Given the description of an element on the screen output the (x, y) to click on. 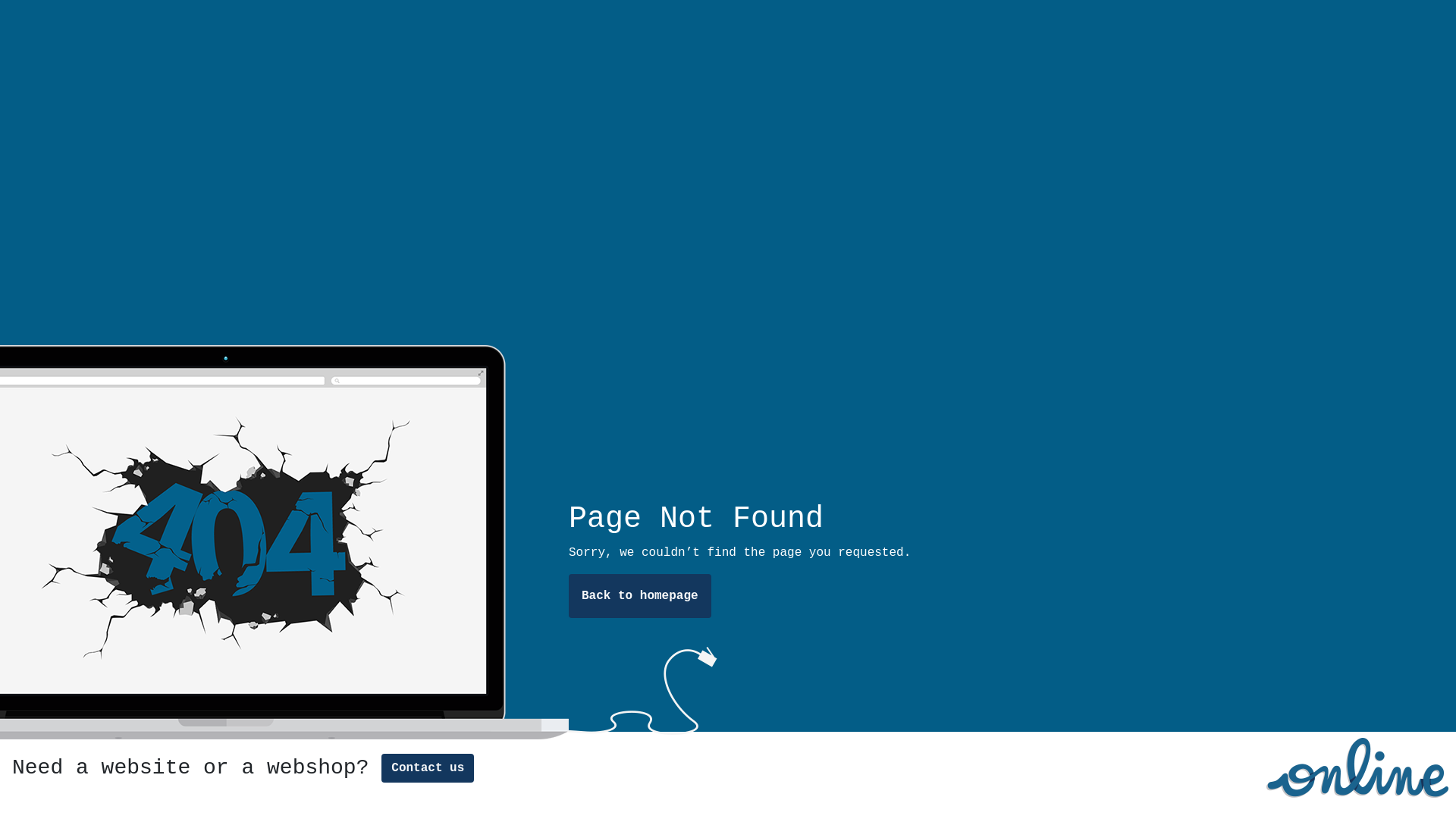
Back to homepage Element type: text (639, 596)
Contact us Element type: text (427, 767)
